Given the description of an element on the screen output the (x, y) to click on. 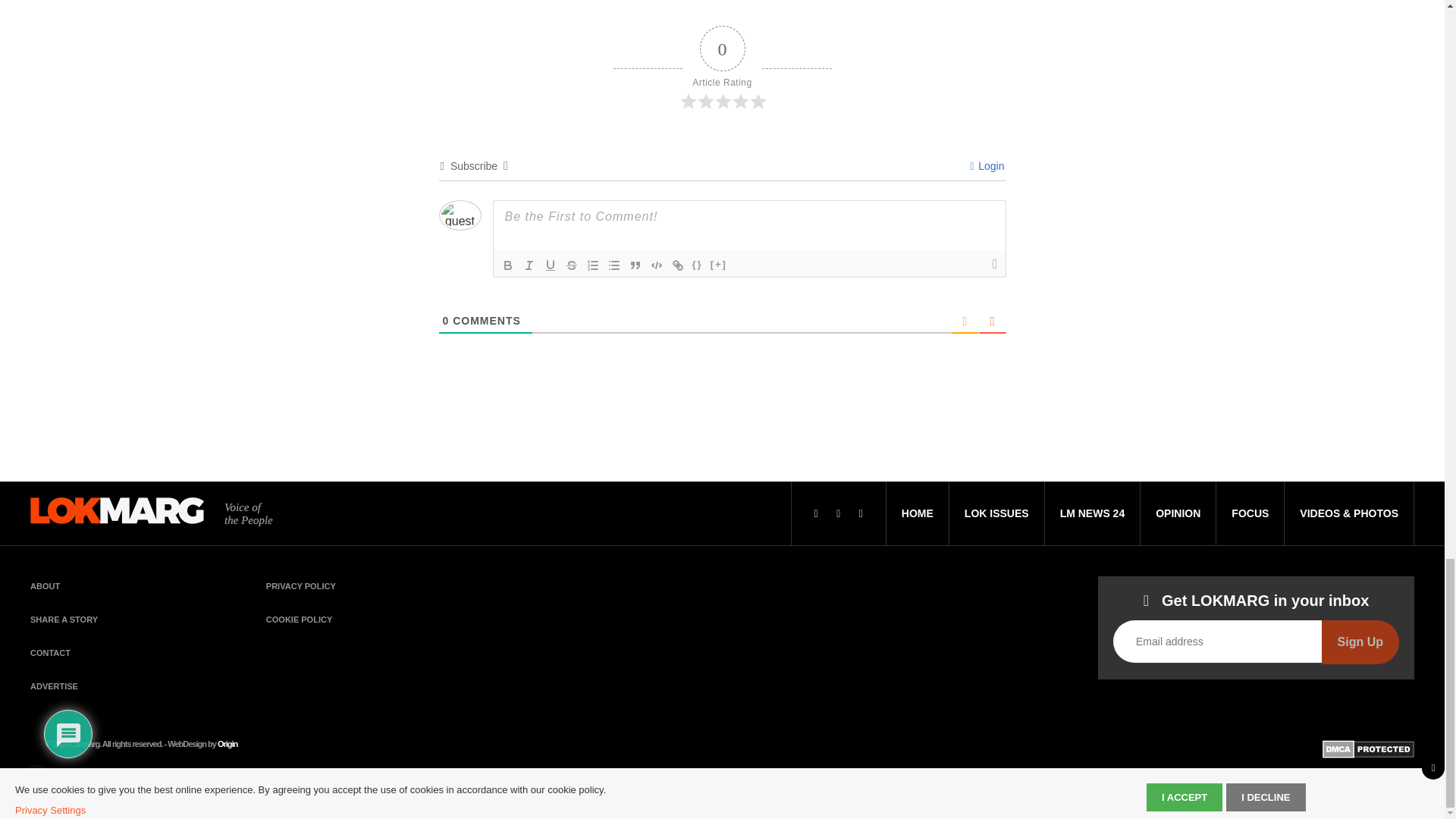
Sign Up (1360, 641)
Login (986, 165)
